Given the description of an element on the screen output the (x, y) to click on. 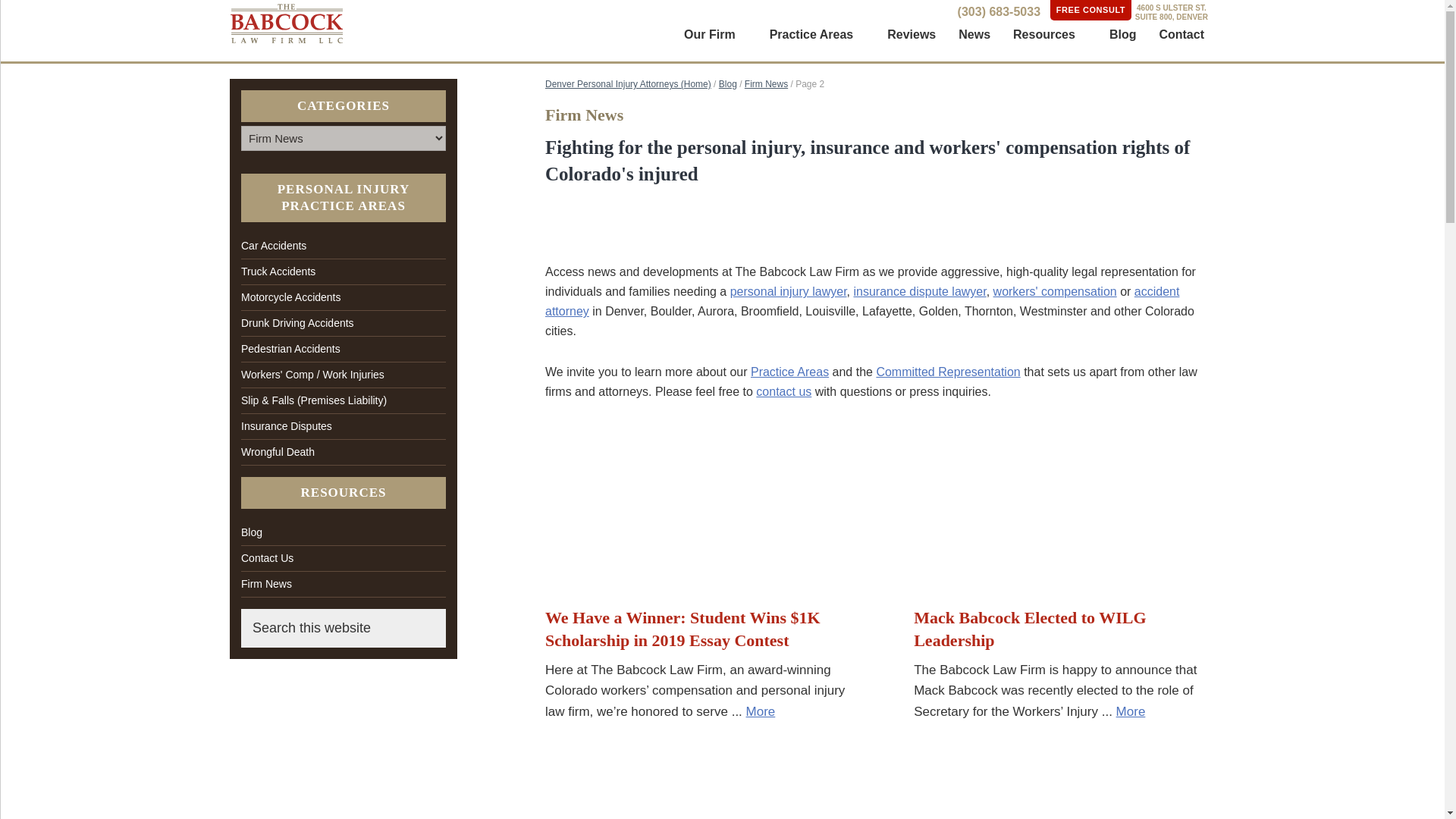
FREE CONSULT (1090, 10)
Our Firm (715, 34)
News (974, 34)
Firm News (765, 83)
Reviews (911, 34)
Practice Areas (817, 34)
Contact (1181, 34)
Blog (1122, 34)
Blog (727, 83)
Resources (1049, 34)
The Babcock Law Firm (286, 24)
